Given the description of an element on the screen output the (x, y) to click on. 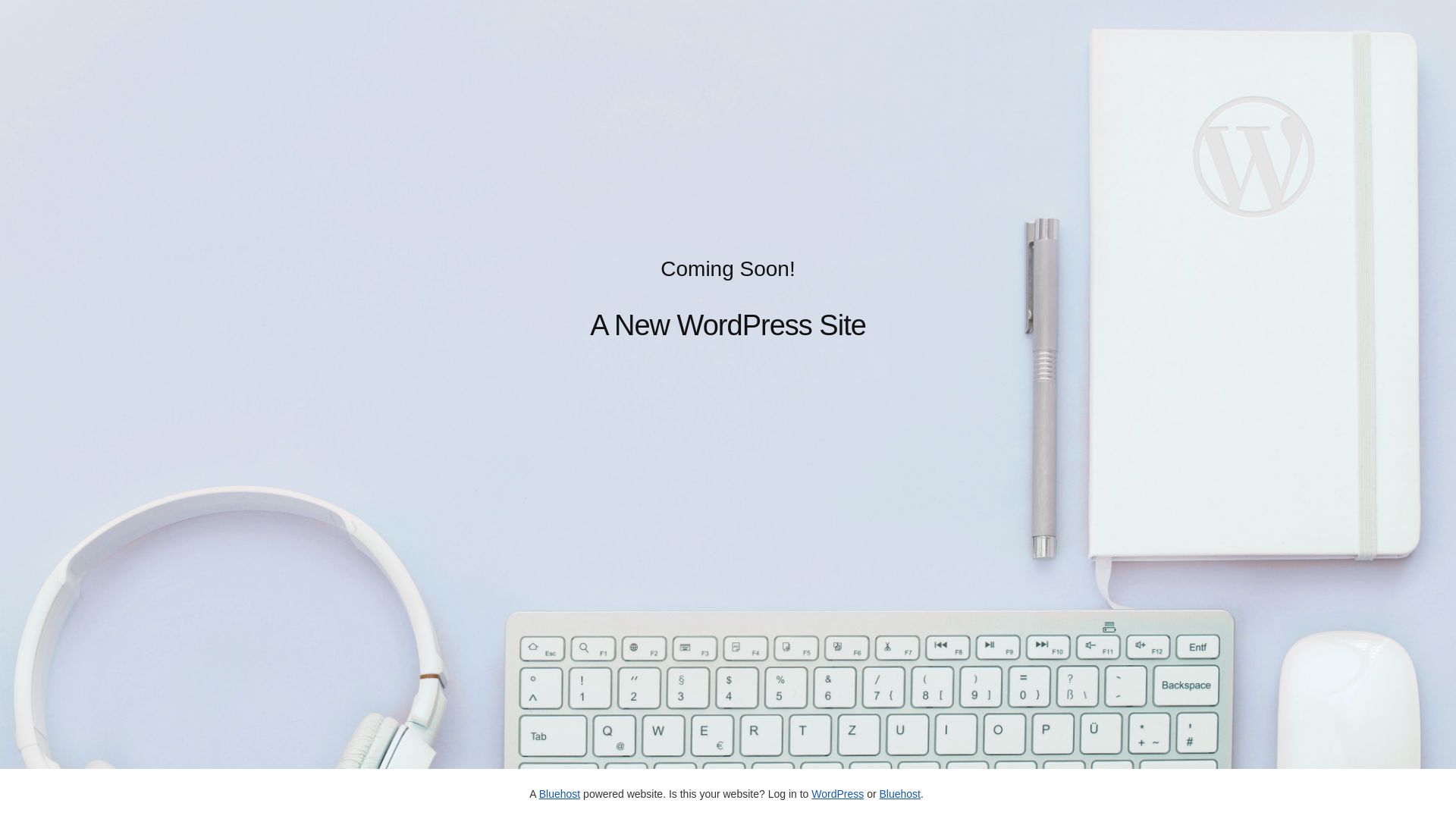
WordPress Element type: text (837, 793)
Bluehost Element type: text (559, 793)
Bluehost Element type: text (898, 793)
